Given the description of an element on the screen output the (x, y) to click on. 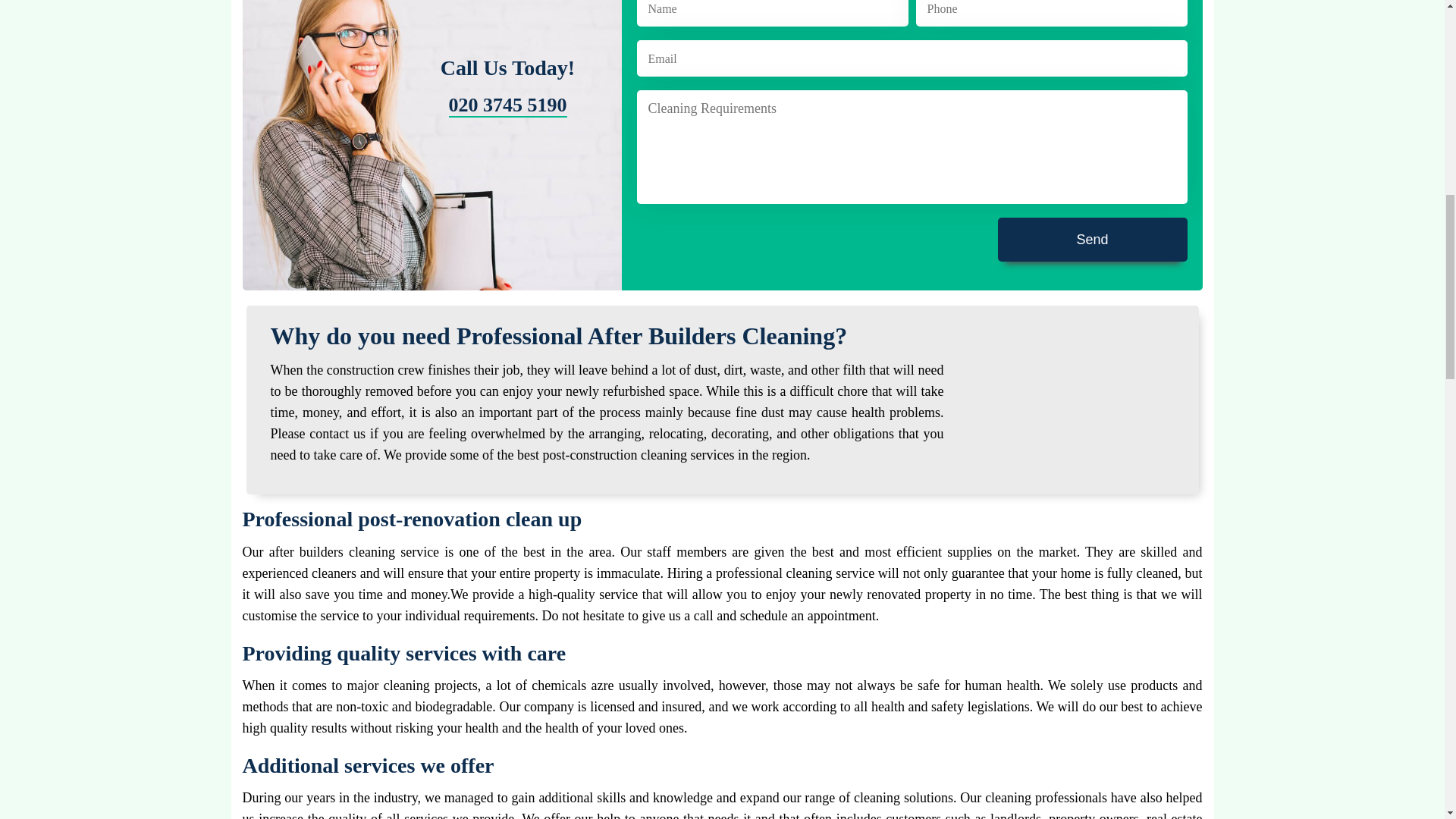
Send (1092, 239)
020 3745 5190 (507, 105)
Send (1092, 239)
